Given the description of an element on the screen output the (x, y) to click on. 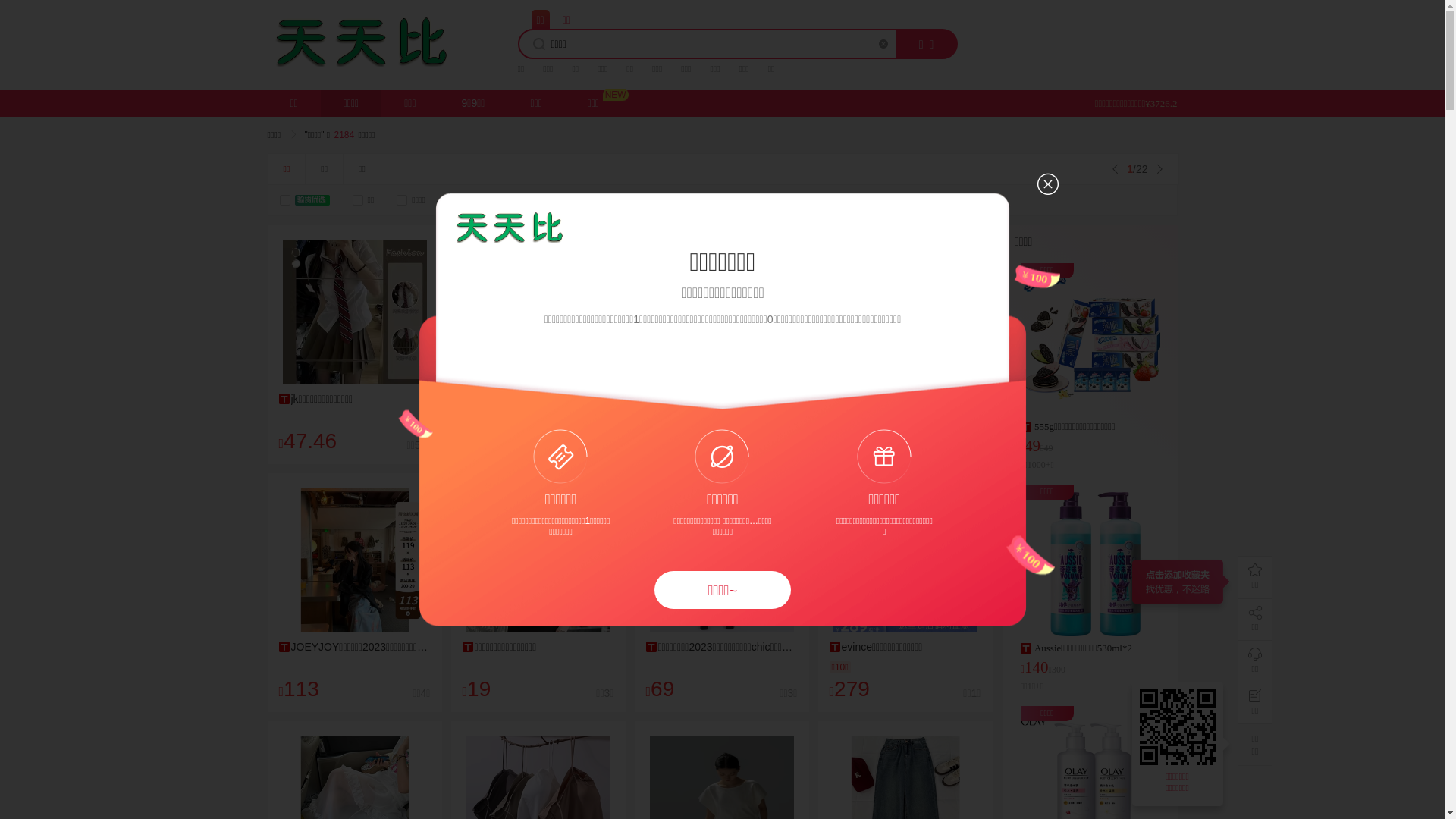
http://123ttt.com Element type: hover (1179, 727)
